Given the description of an element on the screen output the (x, y) to click on. 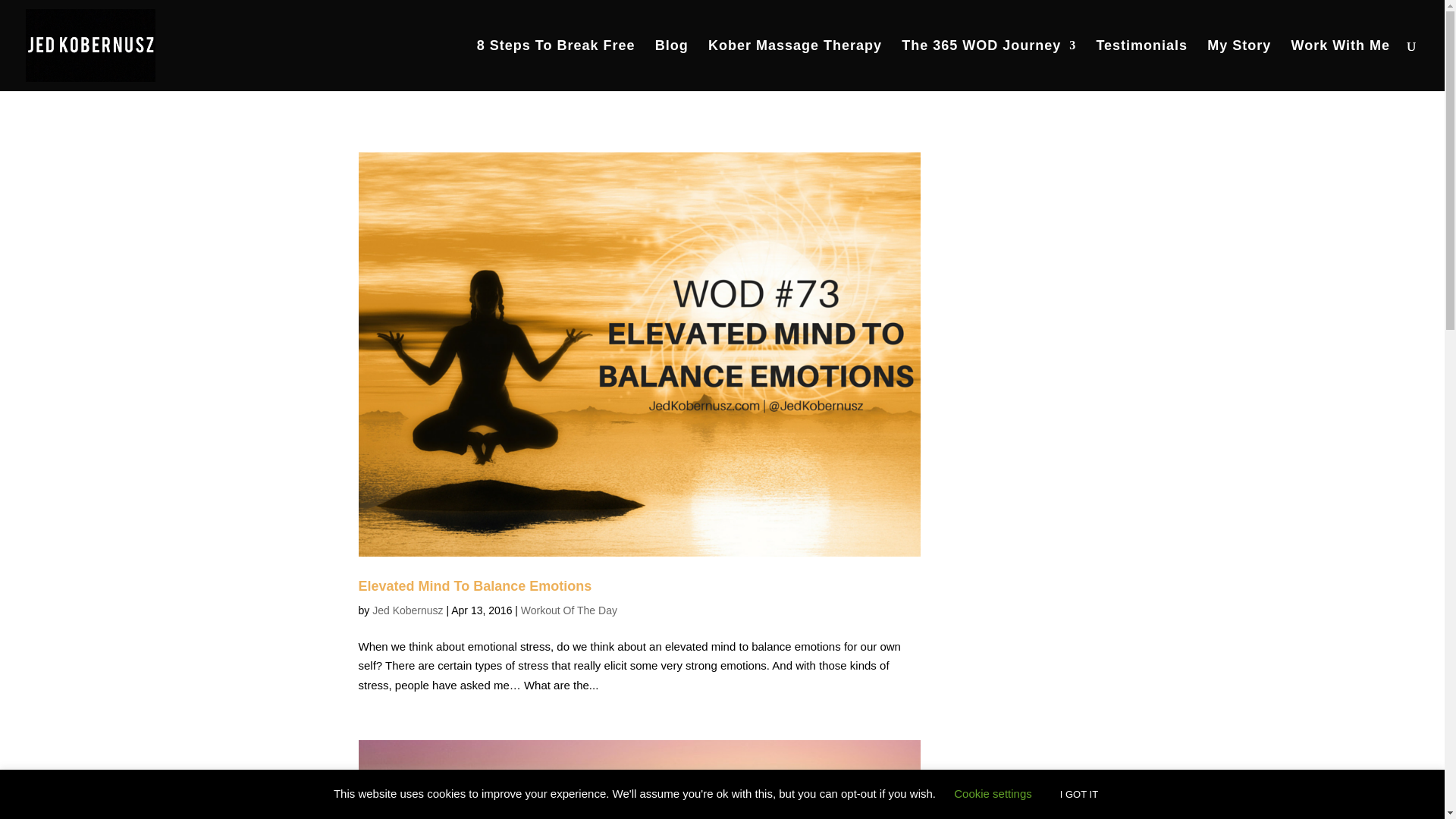
Kober Massage Therapy (794, 65)
Elevated Mind To Balance Emotions (474, 585)
8 Steps To Break Free (555, 65)
Testimonials (1142, 65)
My Story (1239, 65)
Posts by Jed Kobernusz (407, 610)
Blog (671, 65)
The 365 WOD Journey (988, 65)
Work With Me (1340, 65)
Jed Kobernusz (407, 610)
Workout Of The Day (569, 610)
